Given the description of an element on the screen output the (x, y) to click on. 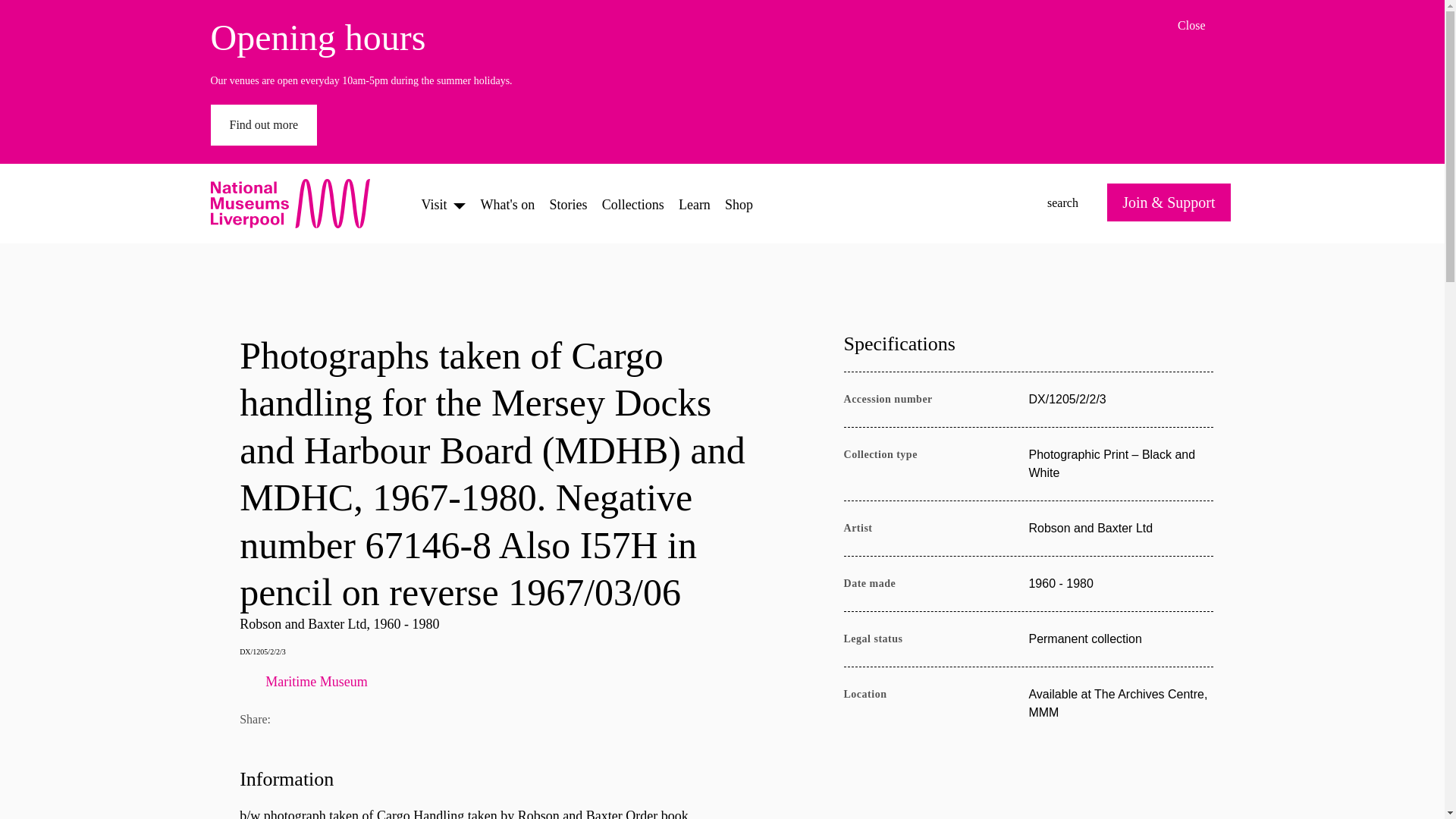
Visit (433, 203)
Shop (738, 203)
Stories (569, 203)
Maritime Museum (503, 681)
Share via Email (295, 719)
Share via Twitter (331, 719)
Collections (1205, 25)
Share via Pinterest (632, 203)
Find out more (404, 719)
